Given the description of an element on the screen output the (x, y) to click on. 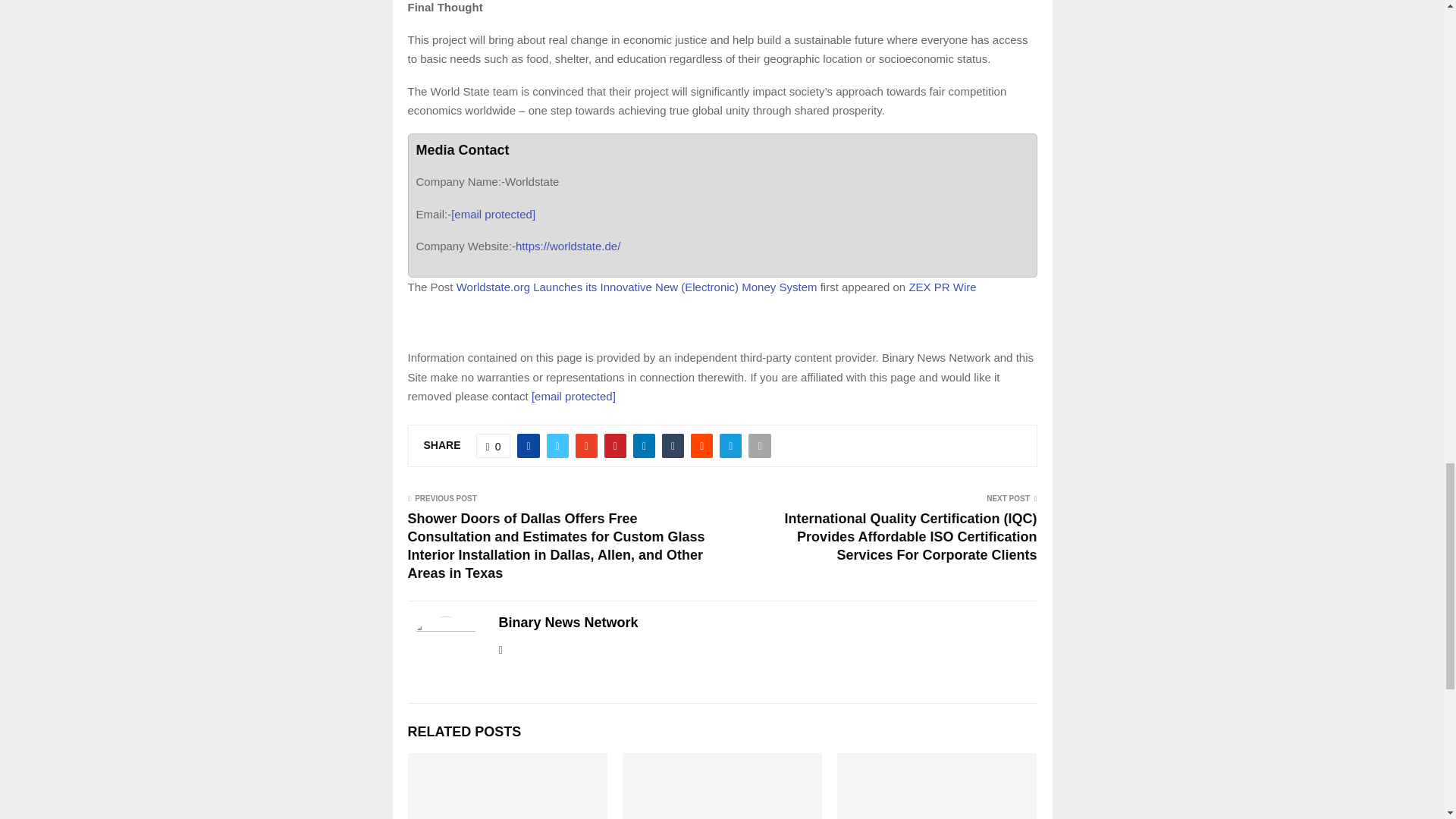
ZEX PR Wire (941, 286)
Posts by Binary News Network (569, 622)
0 (493, 445)
Like (493, 445)
